Given the description of an element on the screen output the (x, y) to click on. 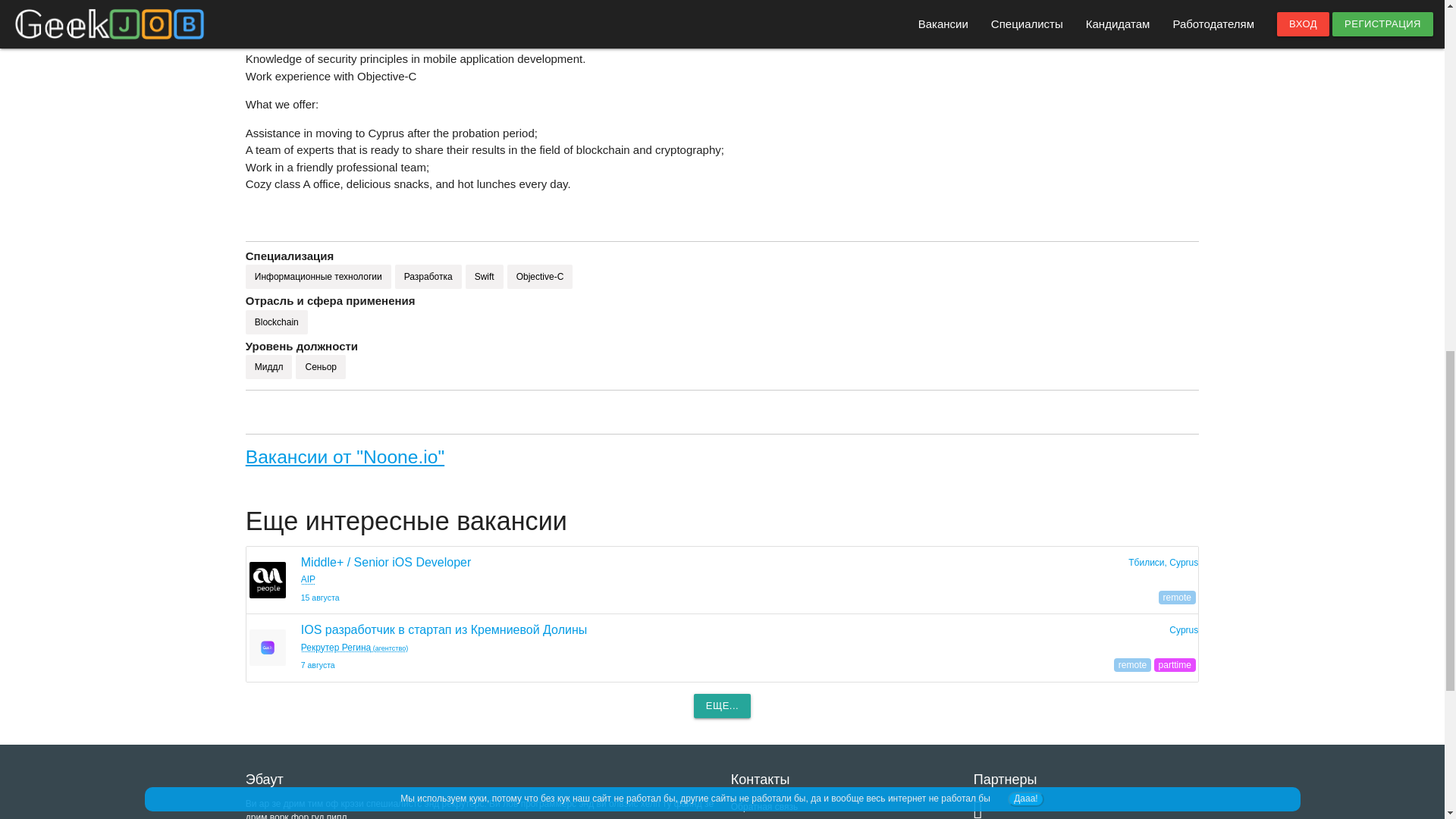
Objective-C (539, 276)
Swift (484, 276)
AIP (308, 579)
Cyprus (1183, 629)
Blockchain (276, 322)
